Given the description of an element on the screen output the (x, y) to click on. 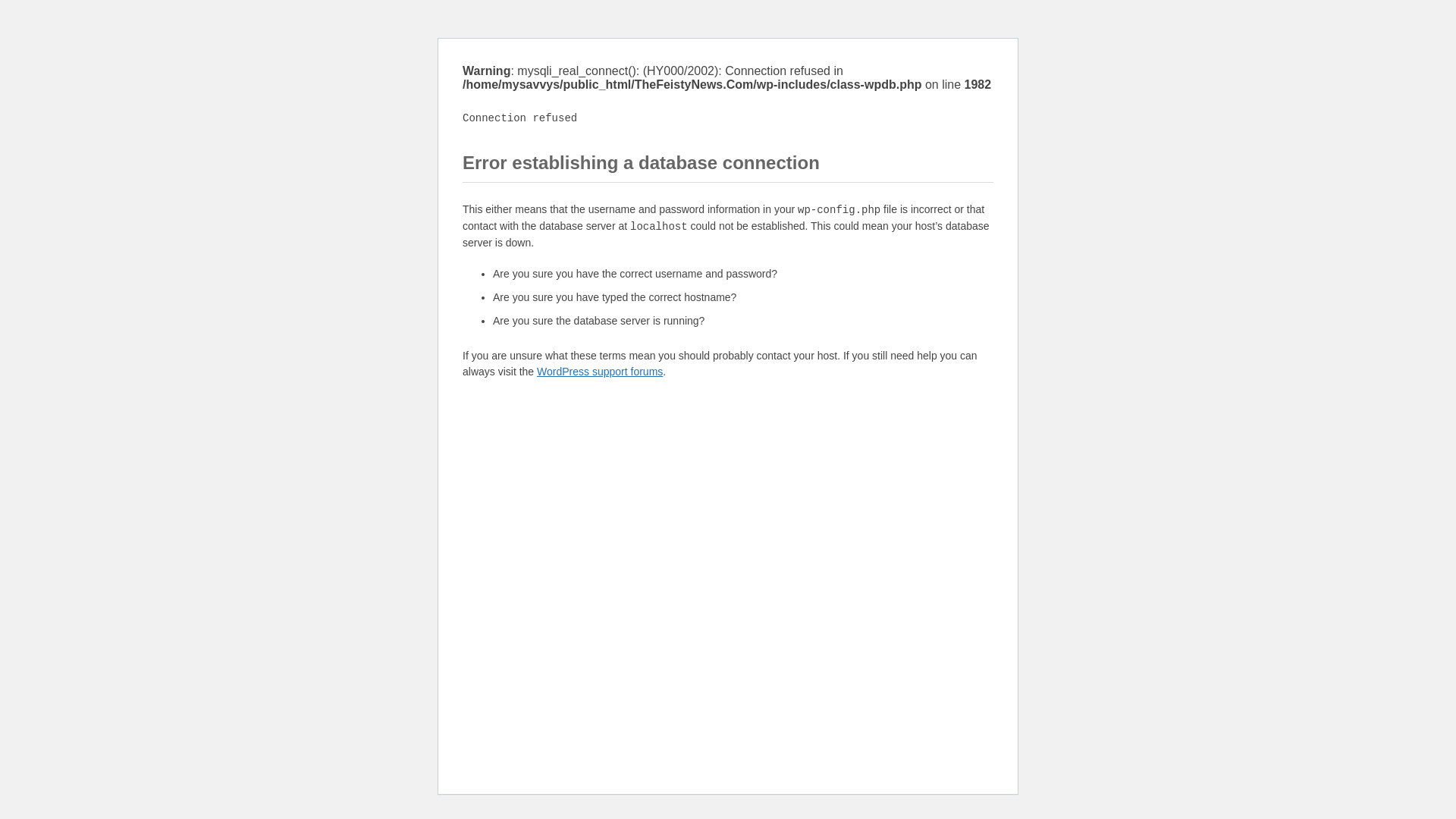
WordPress support forums (599, 371)
